Given the description of an element on the screen output the (x, y) to click on. 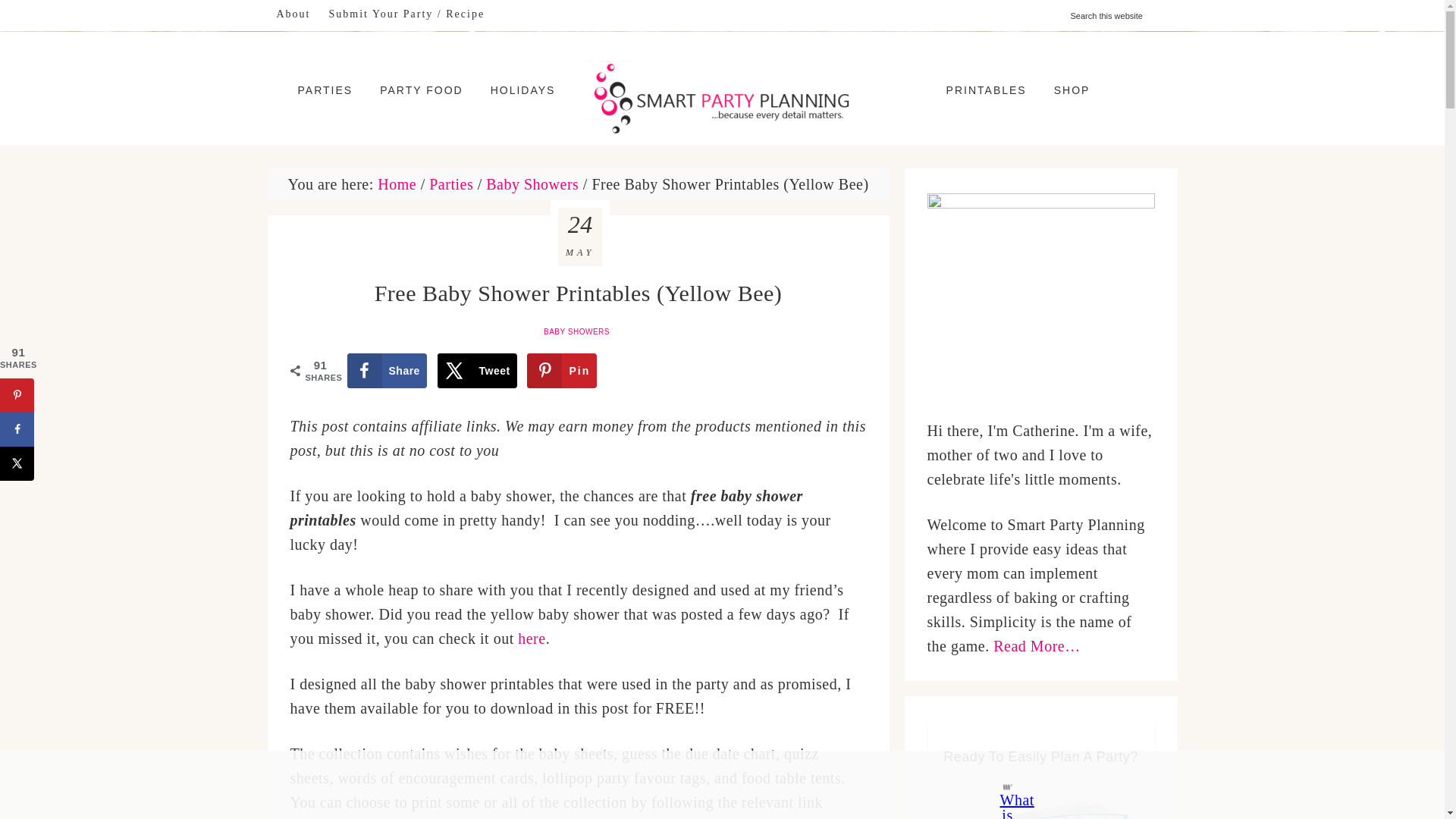
Home (396, 184)
Baby Showers (532, 184)
PRINTABLES (987, 89)
here (531, 638)
HOLIDAYS (523, 89)
PARTY FOOD (421, 89)
Share on Facebook (386, 370)
Share (386, 370)
Save to Pinterest (561, 370)
Pin (561, 370)
SHOP (1072, 89)
PARTIES (324, 89)
Click here to read Yellow Baby Shower (531, 638)
About (292, 14)
BABY SHOWERS (577, 331)
